Given the description of an element on the screen output the (x, y) to click on. 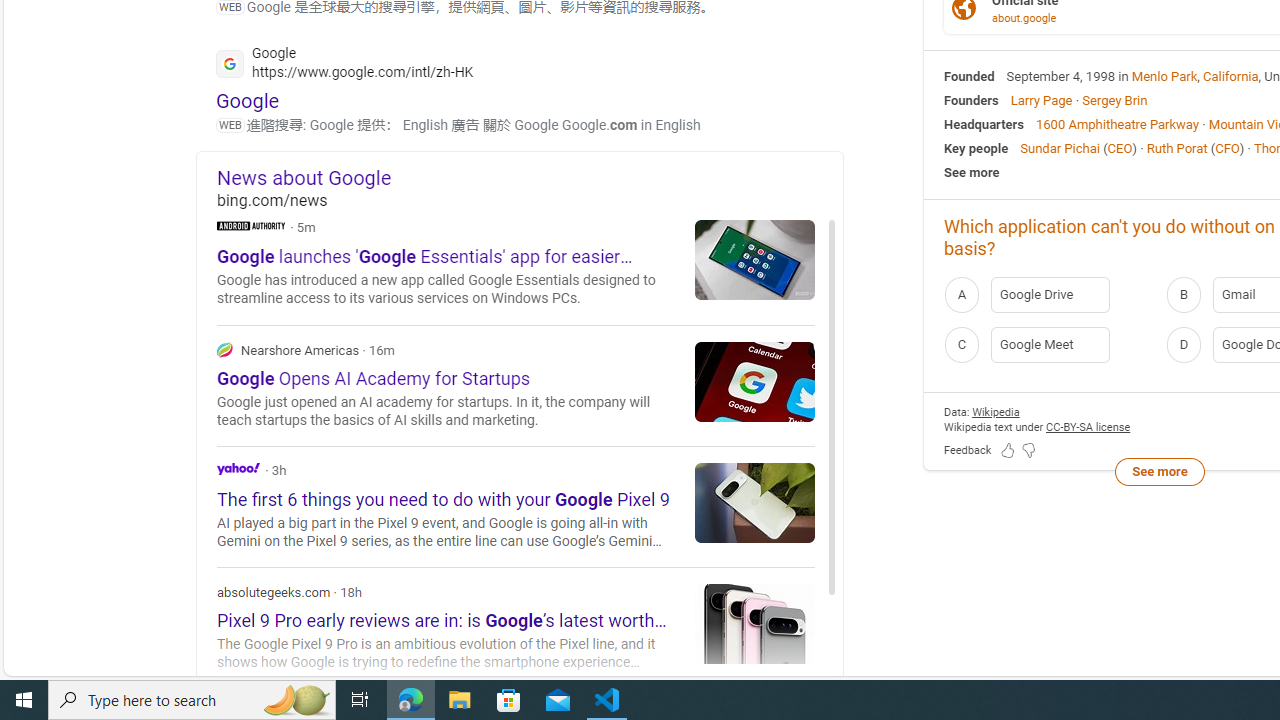
Founded (969, 75)
Key people (976, 147)
Headquarters (984, 123)
1600 Amphitheatre Parkway (1117, 123)
News about Google (530, 177)
Sundar Pichai (1059, 147)
Larry Page (1040, 100)
Yahoo (238, 468)
Yahoo (516, 506)
Nearshore Americas (224, 349)
